Given the description of an element on the screen output the (x, y) to click on. 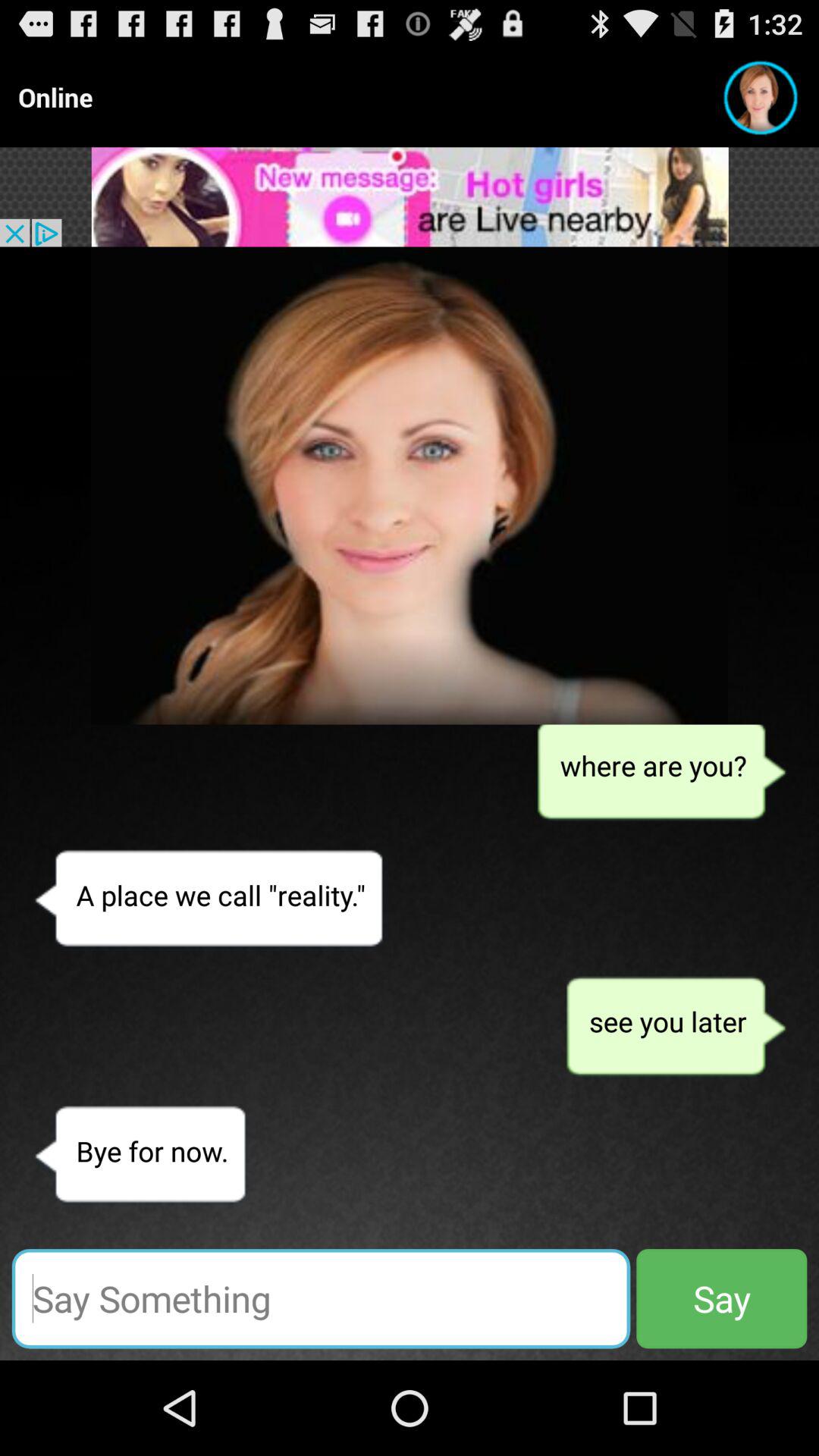
select the image (409, 485)
